Given the description of an element on the screen output the (x, y) to click on. 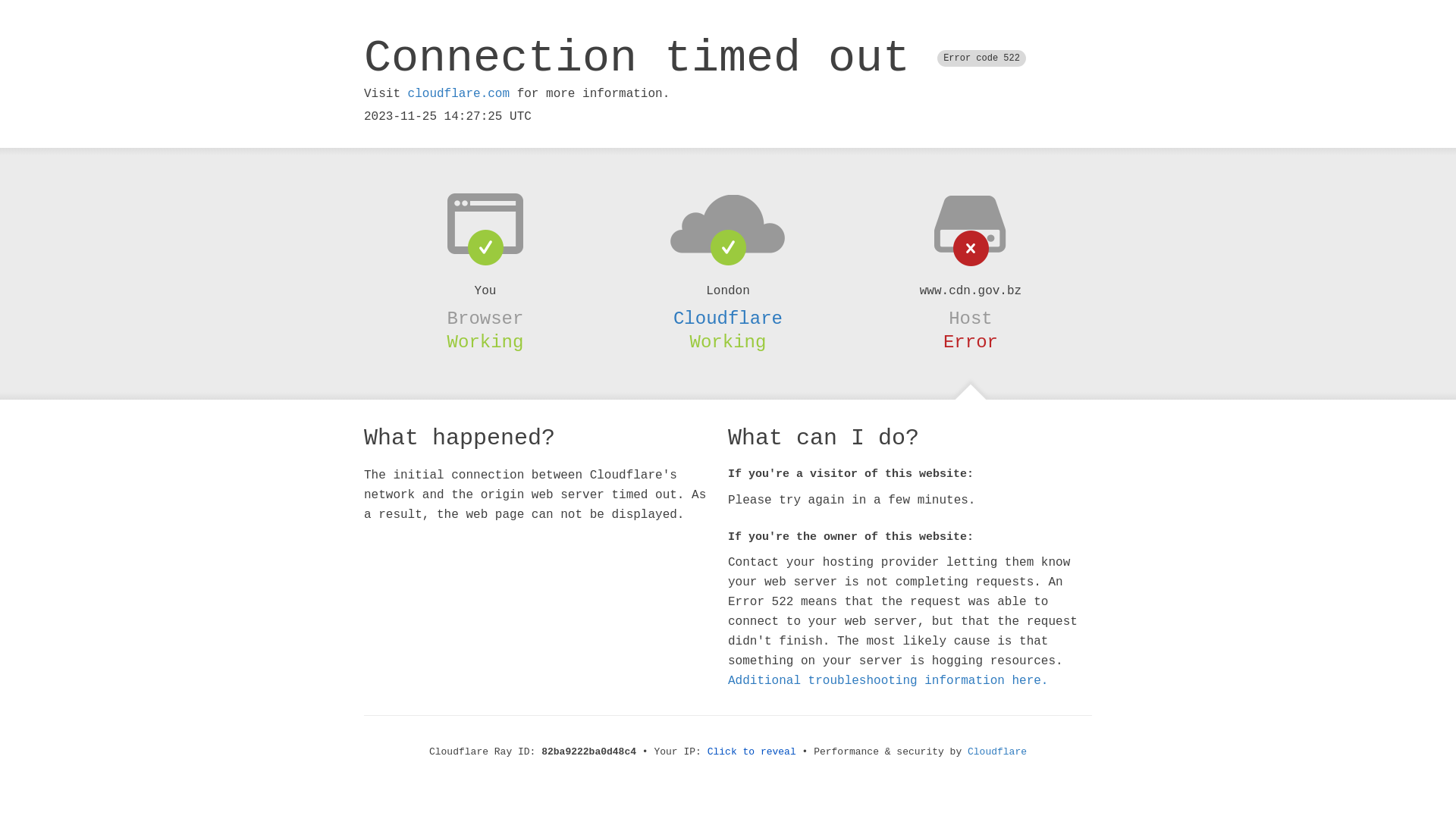
Additional troubleshooting information here. Element type: text (888, 680)
Click to reveal Element type: text (751, 751)
Cloudflare Element type: text (727, 318)
Cloudflare Element type: text (996, 751)
cloudflare.com Element type: text (458, 93)
